Given the description of an element on the screen output the (x, y) to click on. 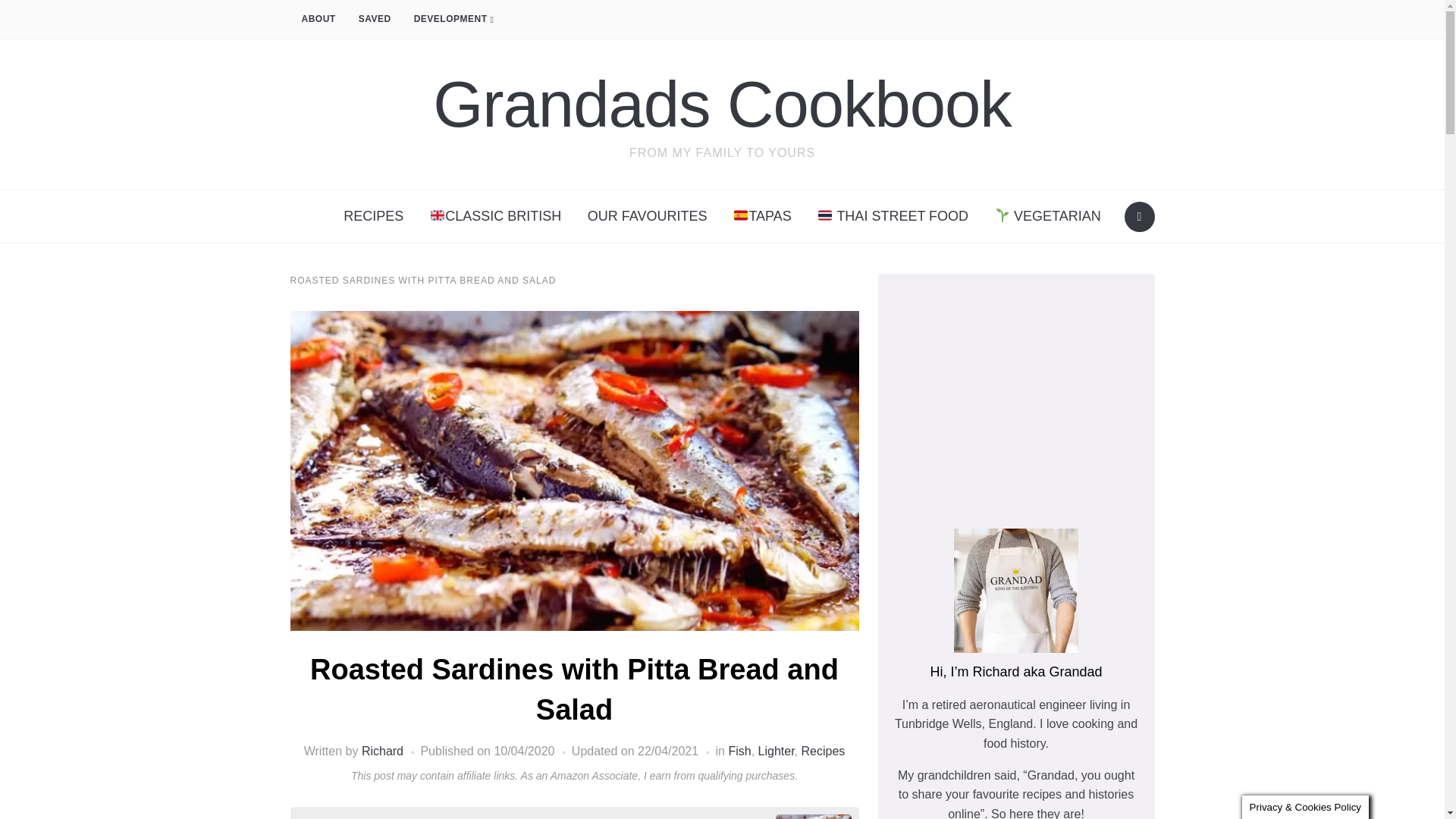
Search (1139, 216)
Grandads Cookbook (721, 103)
ABOUT (317, 19)
SAVED (375, 19)
DEVELOPMENT (454, 19)
From my family to yours (721, 103)
Posts by Richard (382, 750)
